Given the description of an element on the screen output the (x, y) to click on. 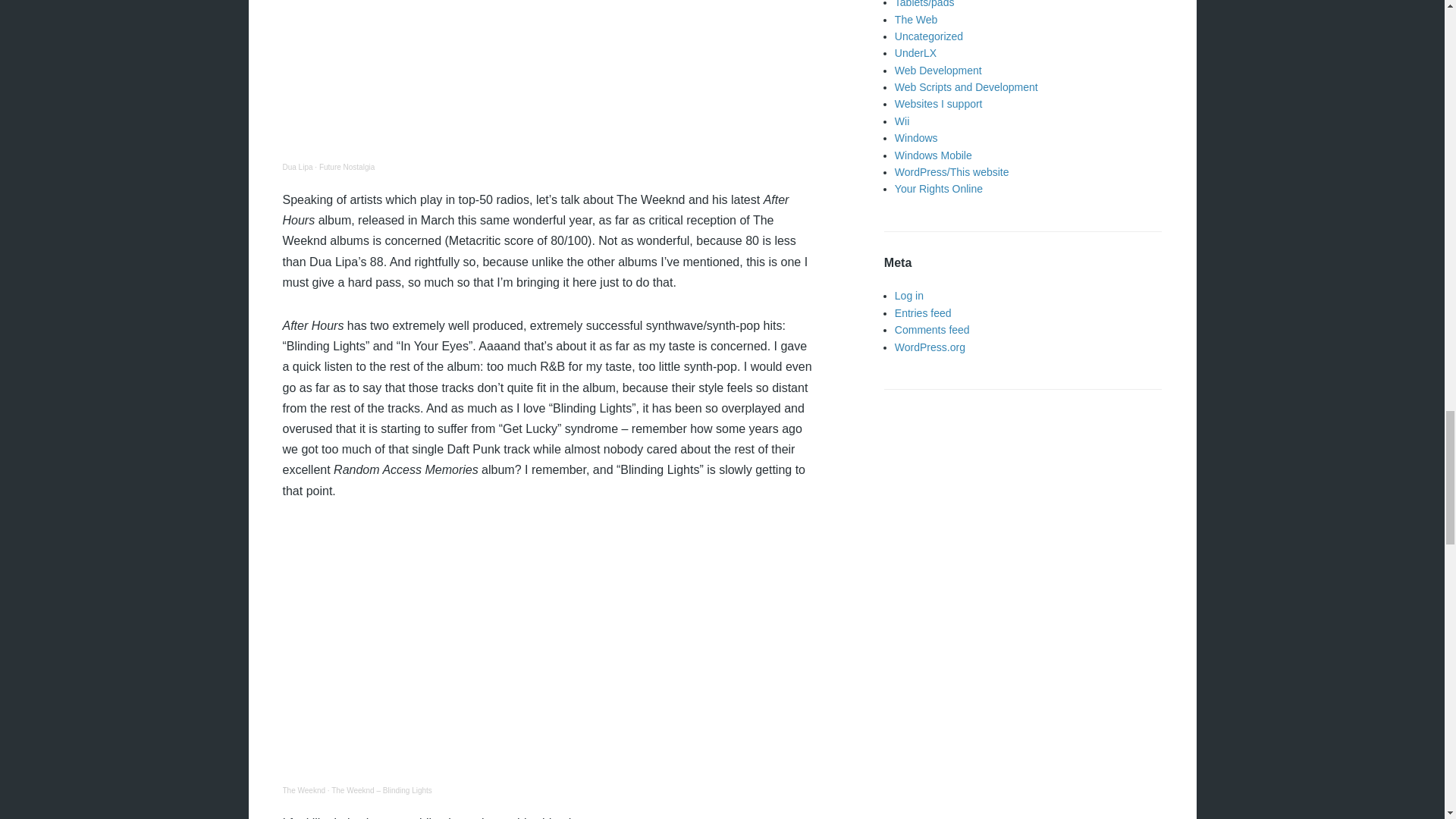
Dua Lipa (297, 166)
Future Nostalgia (346, 166)
The Weeknd - Blinding Lights (381, 790)
Future Nostalgia (346, 166)
Dua Lipa (297, 166)
The Weeknd (303, 790)
The Weeknd (303, 790)
